Given the description of an element on the screen output the (x, y) to click on. 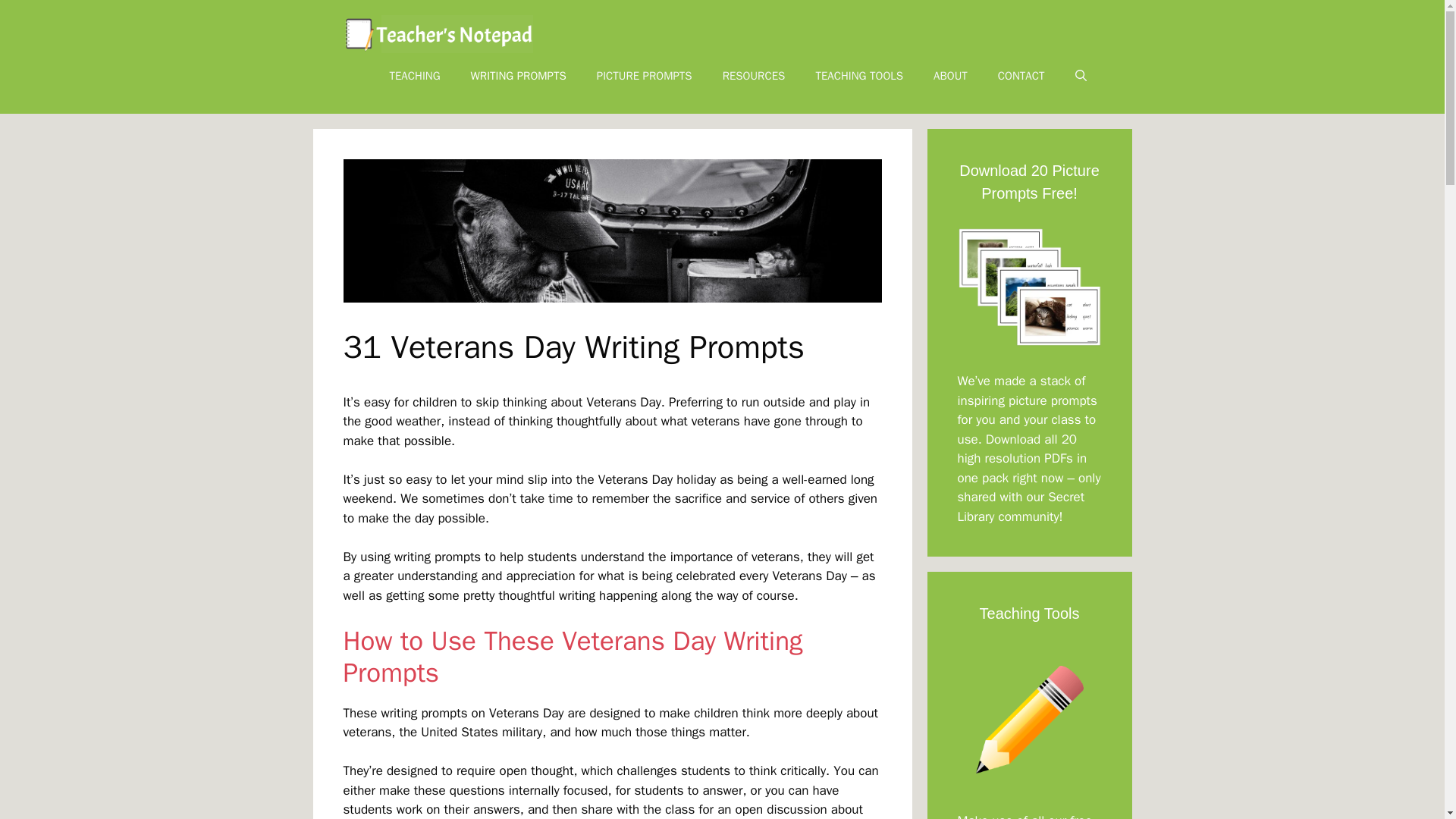
TEACHING (414, 75)
PICTURE PROMPTS (643, 75)
CONTACT (1020, 75)
TEACHING TOOLS (858, 75)
ABOUT (950, 75)
WRITING PROMPTS (517, 75)
RESOURCES (753, 75)
